Given the description of an element on the screen output the (x, y) to click on. 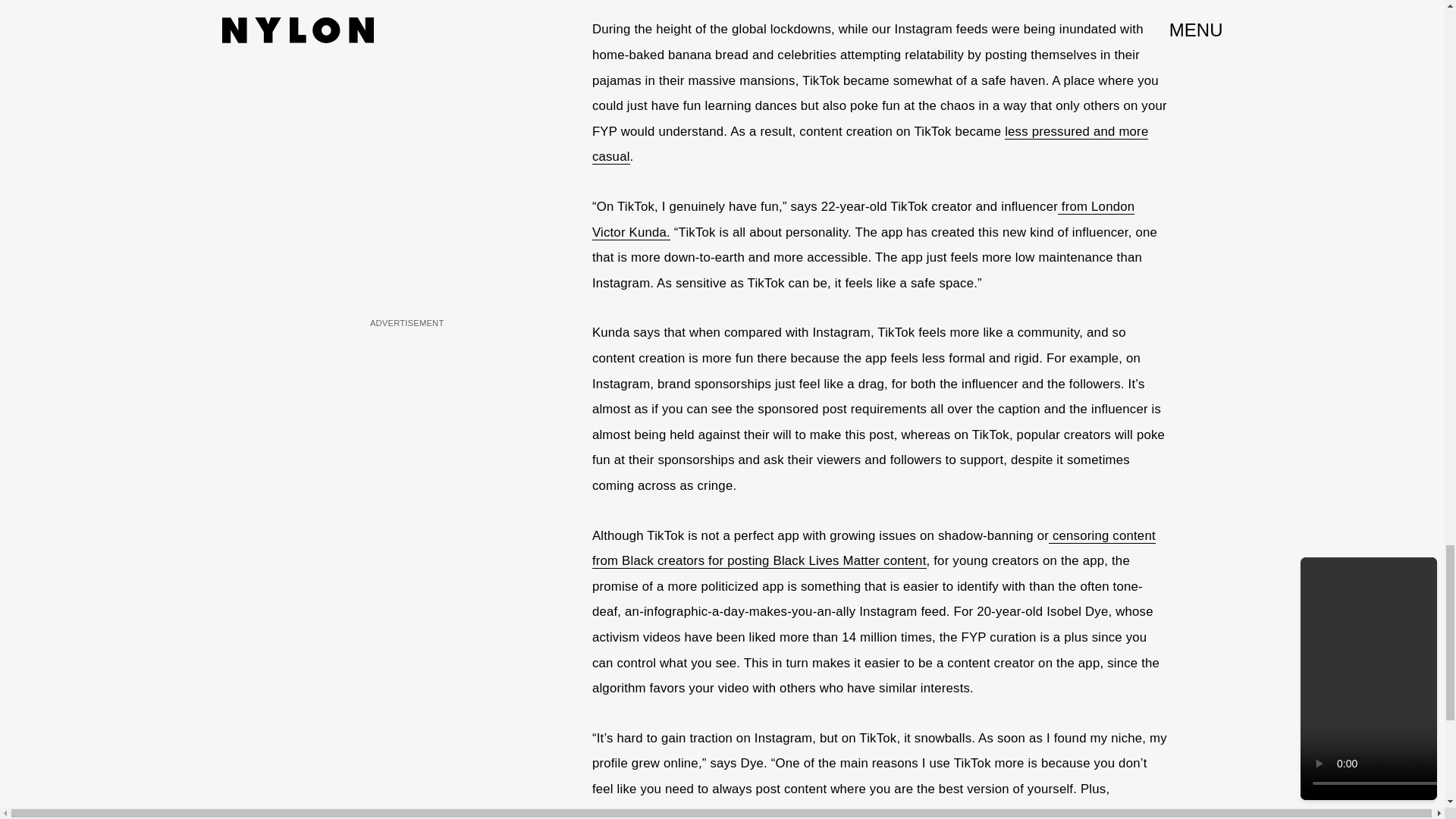
from London Victor Kunda. (863, 219)
less pressured and more casual (870, 144)
